Given the description of an element on the screen output the (x, y) to click on. 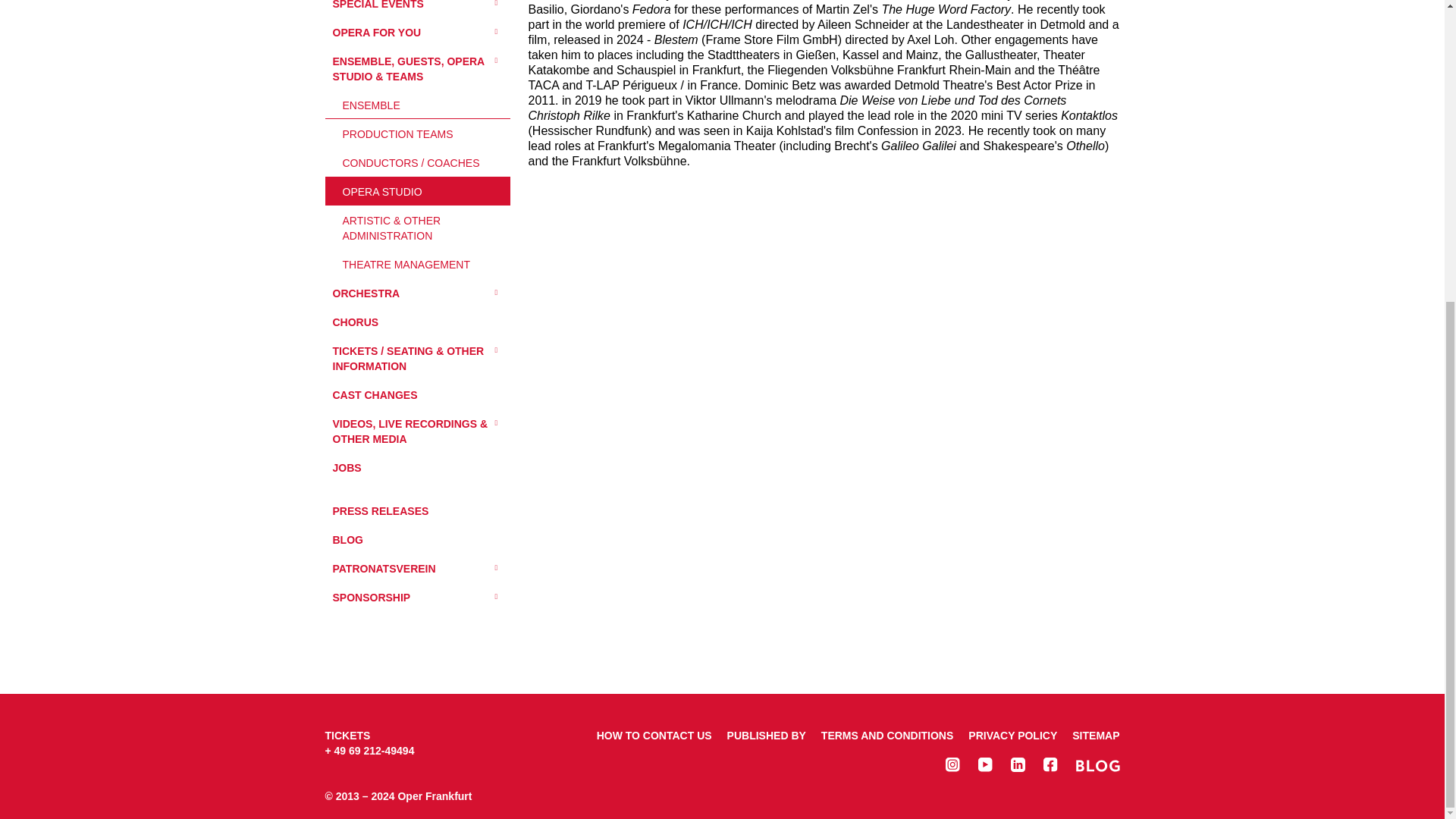
SPECIAL EVENTS (416, 8)
